Given the description of an element on the screen output the (x, y) to click on. 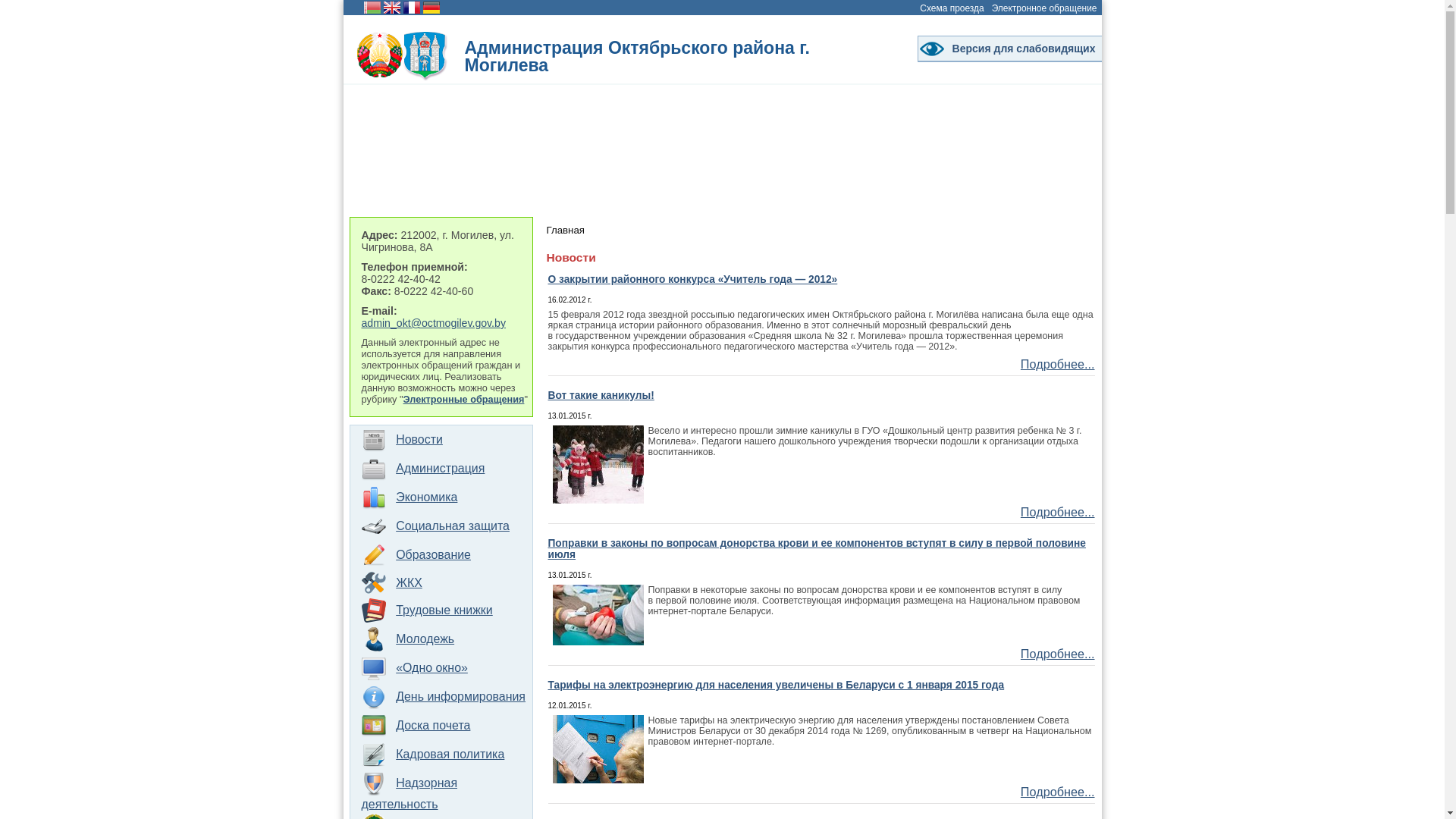
admin_okt@octmogilev.gov.by Element type: text (432, 322)
